Given the description of an element on the screen output the (x, y) to click on. 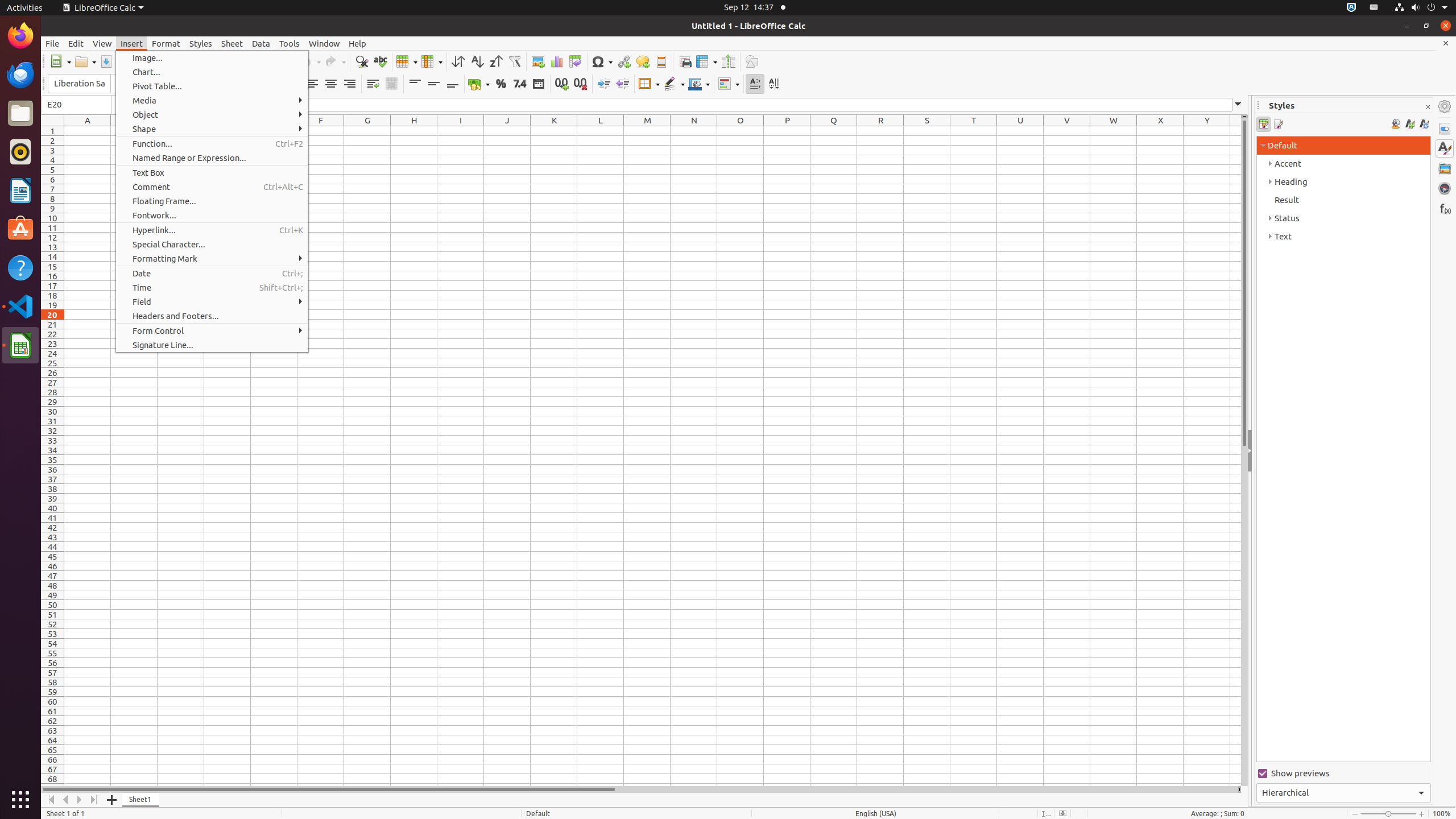
Navigator Element type: radio-button (1444, 188)
Fontwork... Element type: menu-item (212, 215)
I1 Element type: table-cell (460, 130)
Freeze Rows and Columns Element type: push-button (705, 61)
Signature Line... Element type: menu-item (212, 344)
